Given the description of an element on the screen output the (x, y) to click on. 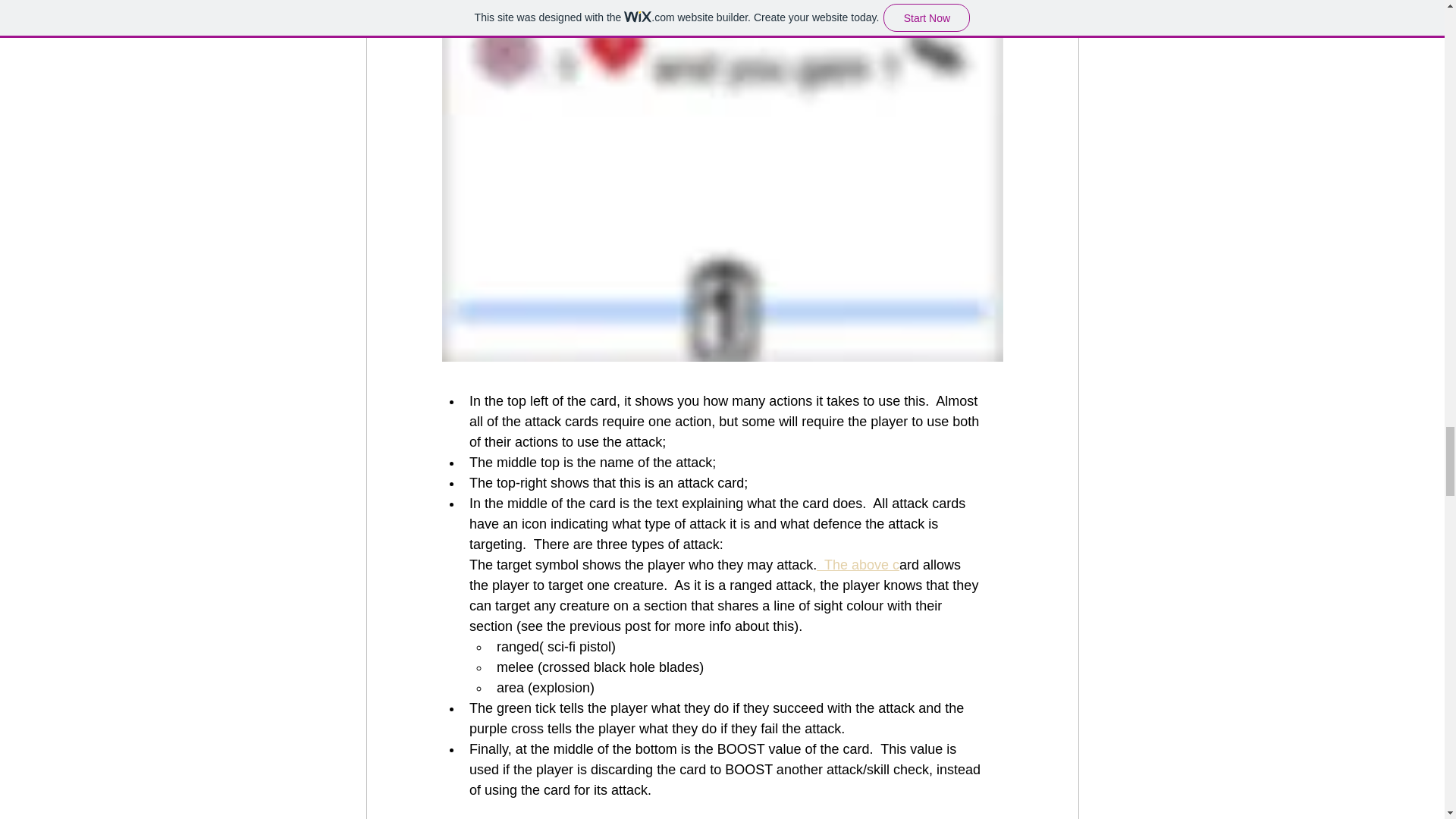
  The above c (857, 564)
